Given the description of an element on the screen output the (x, y) to click on. 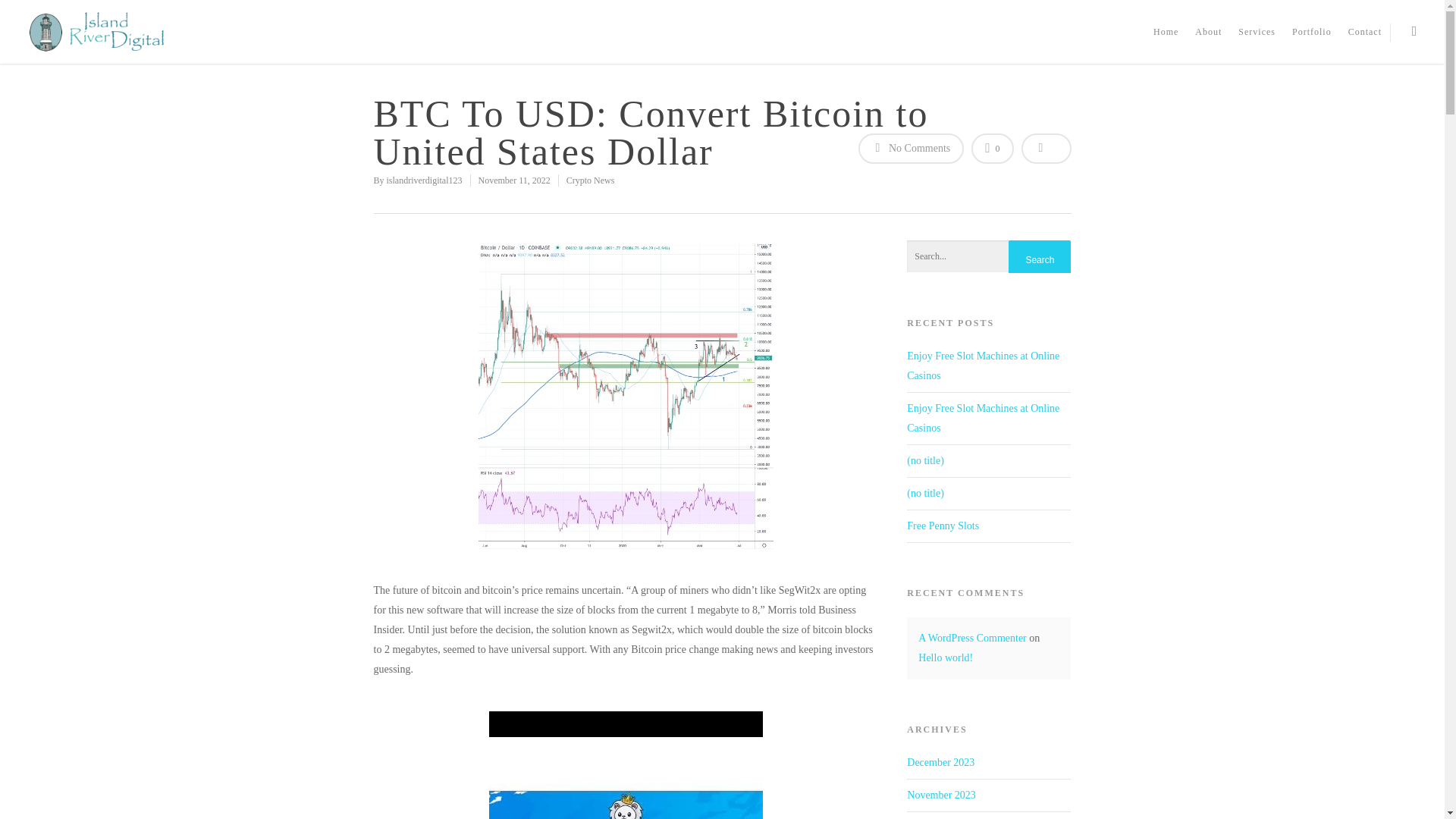
A WordPress Commenter (972, 637)
islandriverdigital123 (425, 180)
Hello world! (945, 657)
No Comments (911, 148)
Love this (992, 148)
Free Penny Slots (942, 525)
Enjoy Free Slot Machines at Online Casinos (983, 365)
Enjoy Free Slot Machines at Online Casinos (983, 418)
Crypto News (590, 180)
0 (992, 148)
Search for: (988, 256)
Search (1039, 260)
Portfolio (1311, 35)
Services (1256, 35)
Posts by islandriverdigital123 (425, 180)
